Given the description of an element on the screen output the (x, y) to click on. 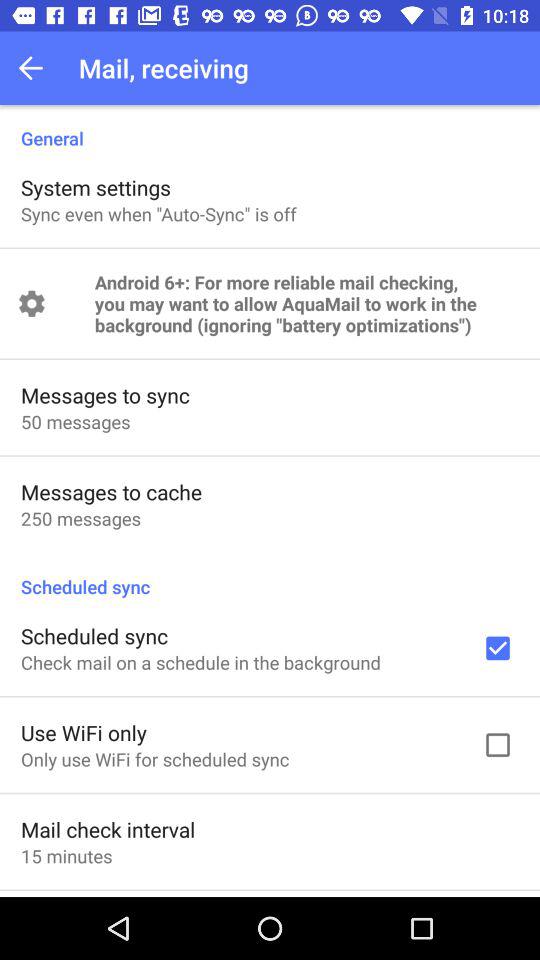
press the 50 messages (75, 421)
